Given the description of an element on the screen output the (x, y) to click on. 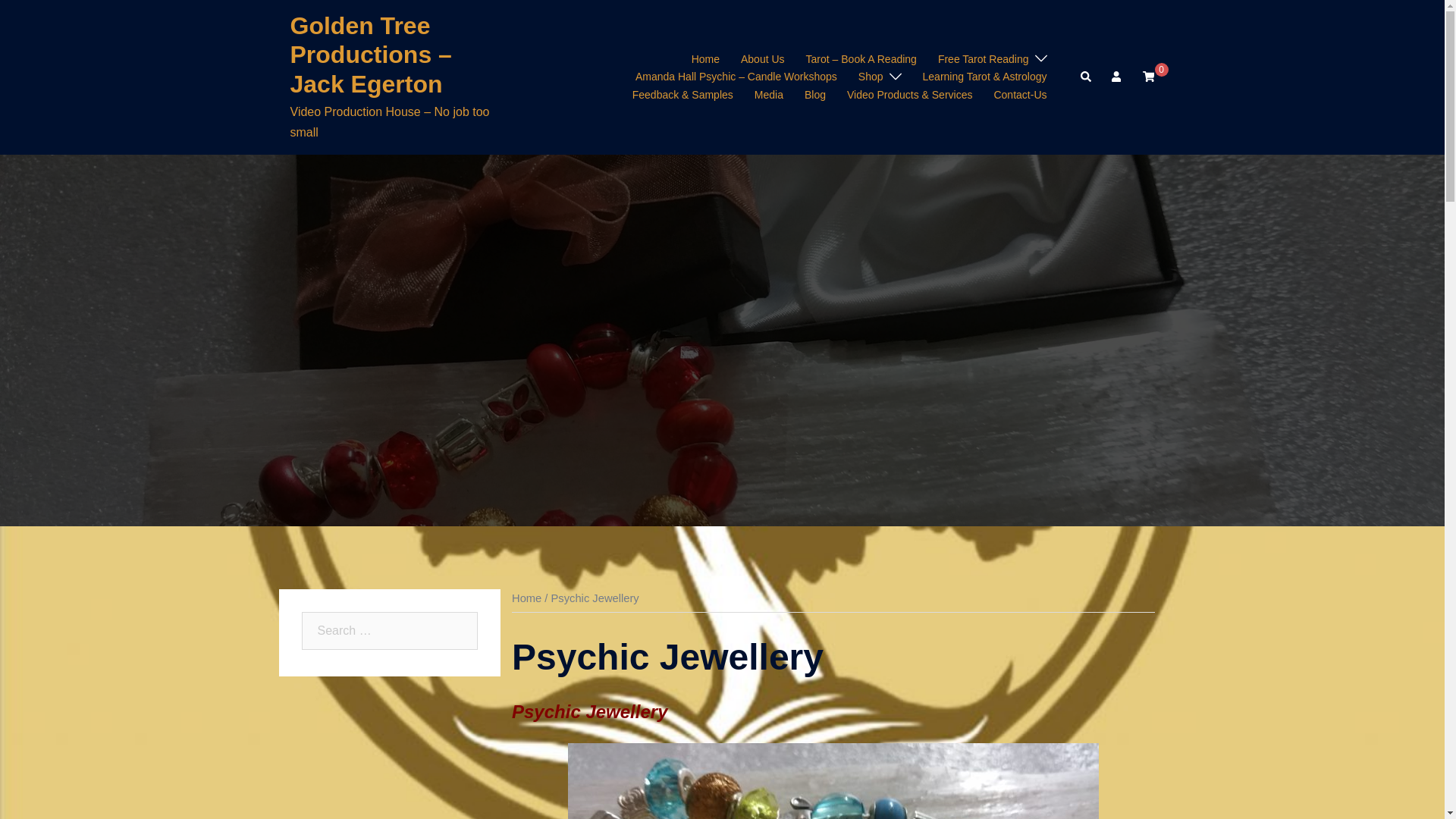
Free Tarot Reading Element type: text (983, 59)
Feedback & Samples Element type: text (682, 95)
Blog Element type: text (814, 95)
0 Element type: text (1148, 76)
About Us Element type: text (762, 59)
Video Products & Services Element type: text (909, 95)
Learning Tarot & Astrology Element type: text (984, 77)
Media Element type: text (768, 95)
Home Element type: text (705, 59)
Shop Element type: text (870, 77)
Search Element type: text (1085, 77)
Your account Element type: hover (1117, 77)
Home Element type: text (526, 598)
Contact-Us Element type: text (1019, 95)
Search Element type: text (49, 18)
